Given the description of an element on the screen output the (x, y) to click on. 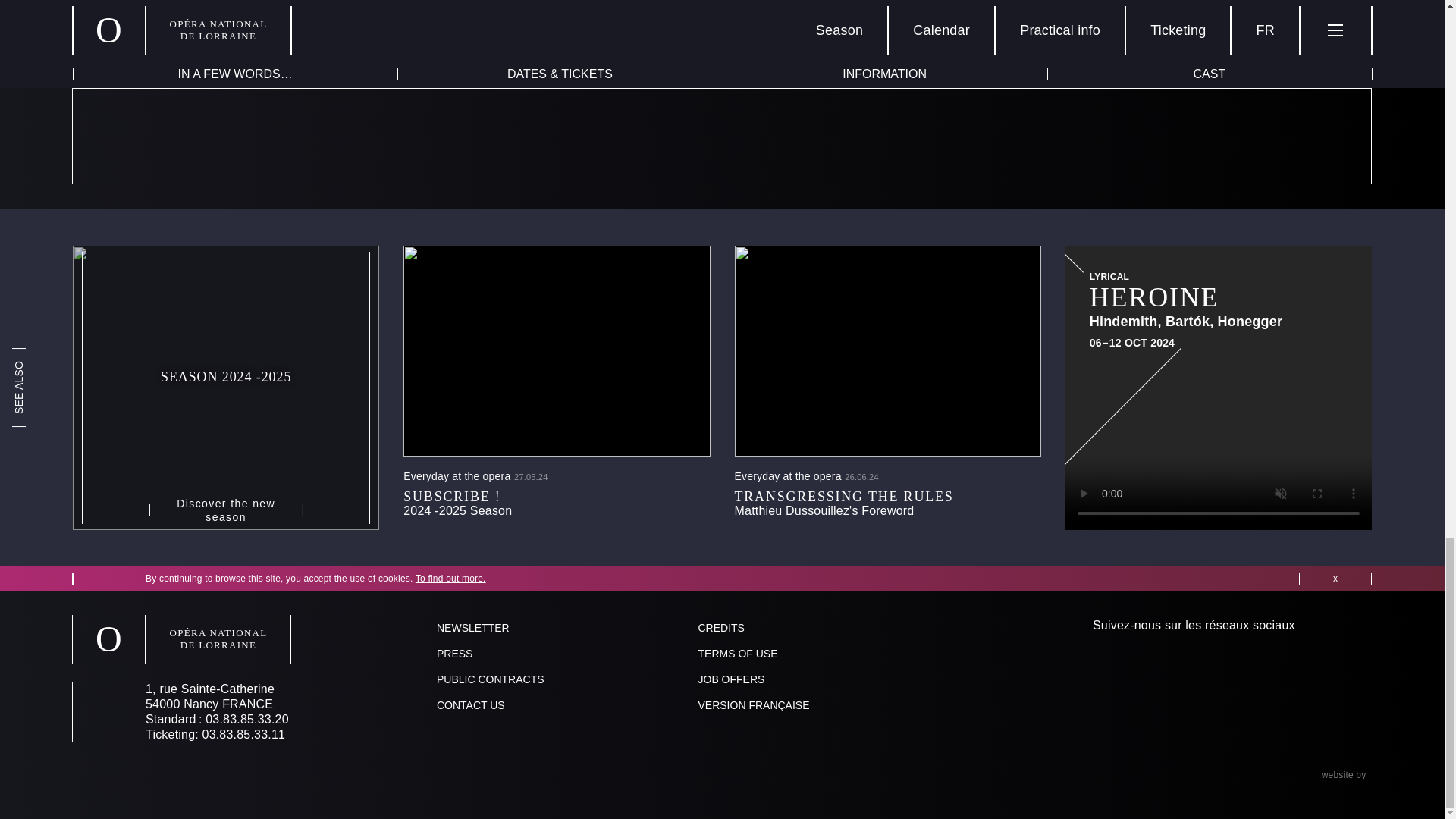
Homepage (181, 639)
Tentwelve (1401, 774)
